Given the description of an element on the screen output the (x, y) to click on. 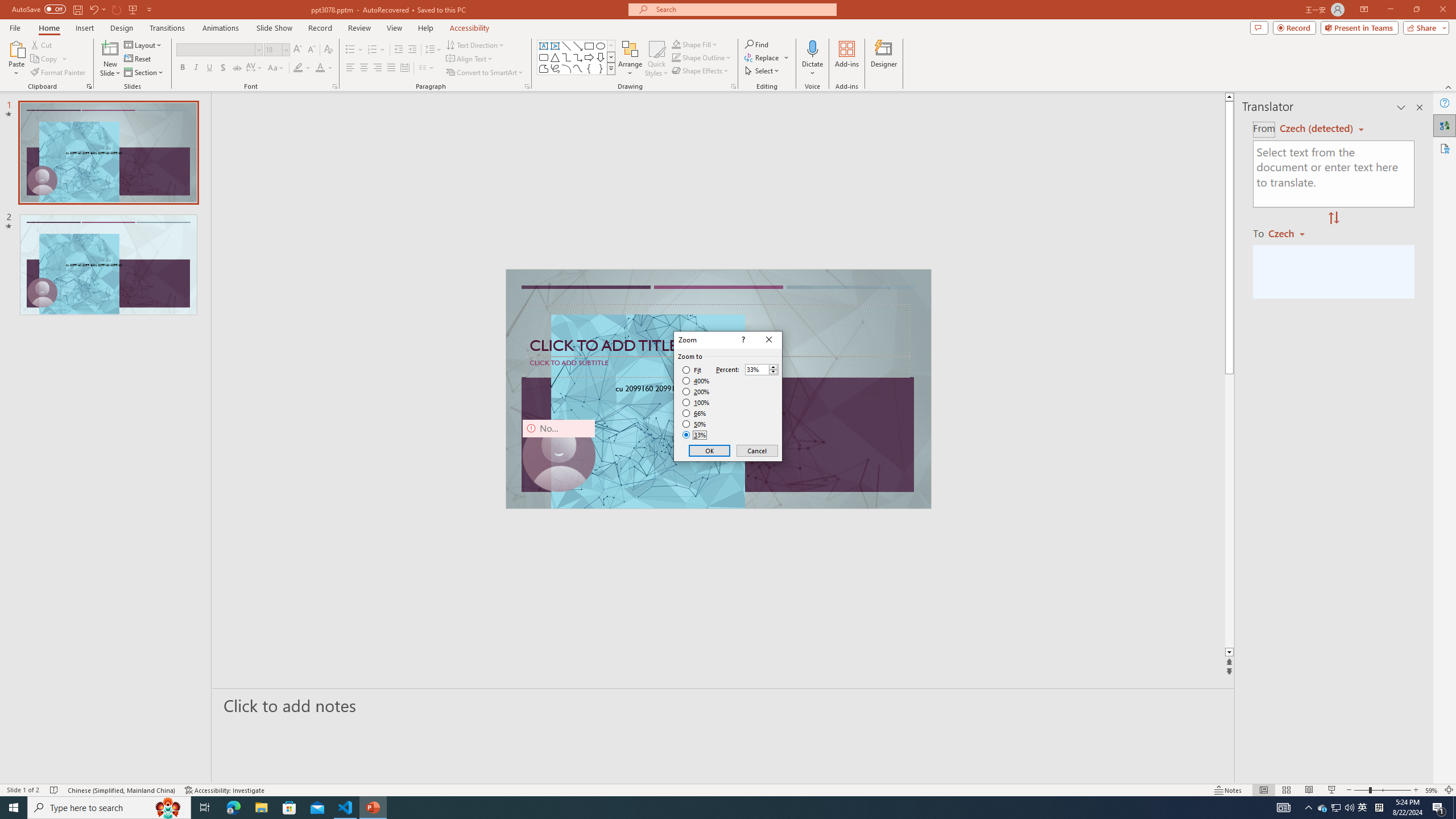
Decrease Indent (398, 49)
Decrease Font Size (310, 49)
Shape Outline Green, Accent 1 (675, 56)
Distributed (404, 67)
Align Text (470, 58)
Strikethrough (237, 67)
